Given the description of an element on the screen output the (x, y) to click on. 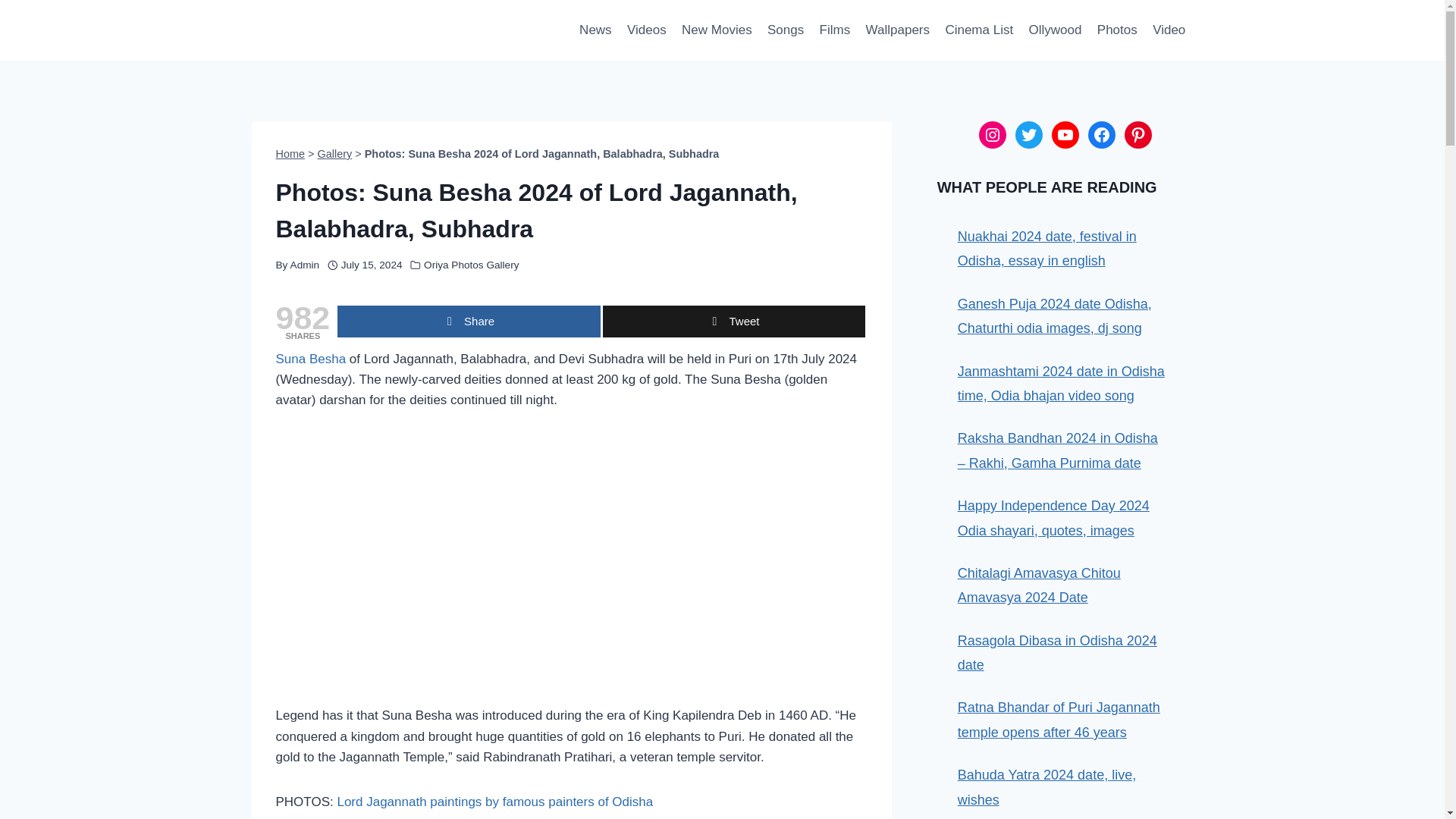
Photos (1116, 30)
Videos (647, 30)
New Movies (717, 30)
News (596, 30)
Wallpapers (897, 30)
Suna Besha (311, 359)
Gallery (334, 153)
Ollywood (1054, 30)
Oriya Photos Gallery (470, 265)
Share (468, 321)
Cinema List (978, 30)
Lord Jagannath paintings by famous painters of Odisha (494, 801)
Tweet (733, 321)
Songs (786, 30)
Suna Besha (311, 359)
